Given the description of an element on the screen output the (x, y) to click on. 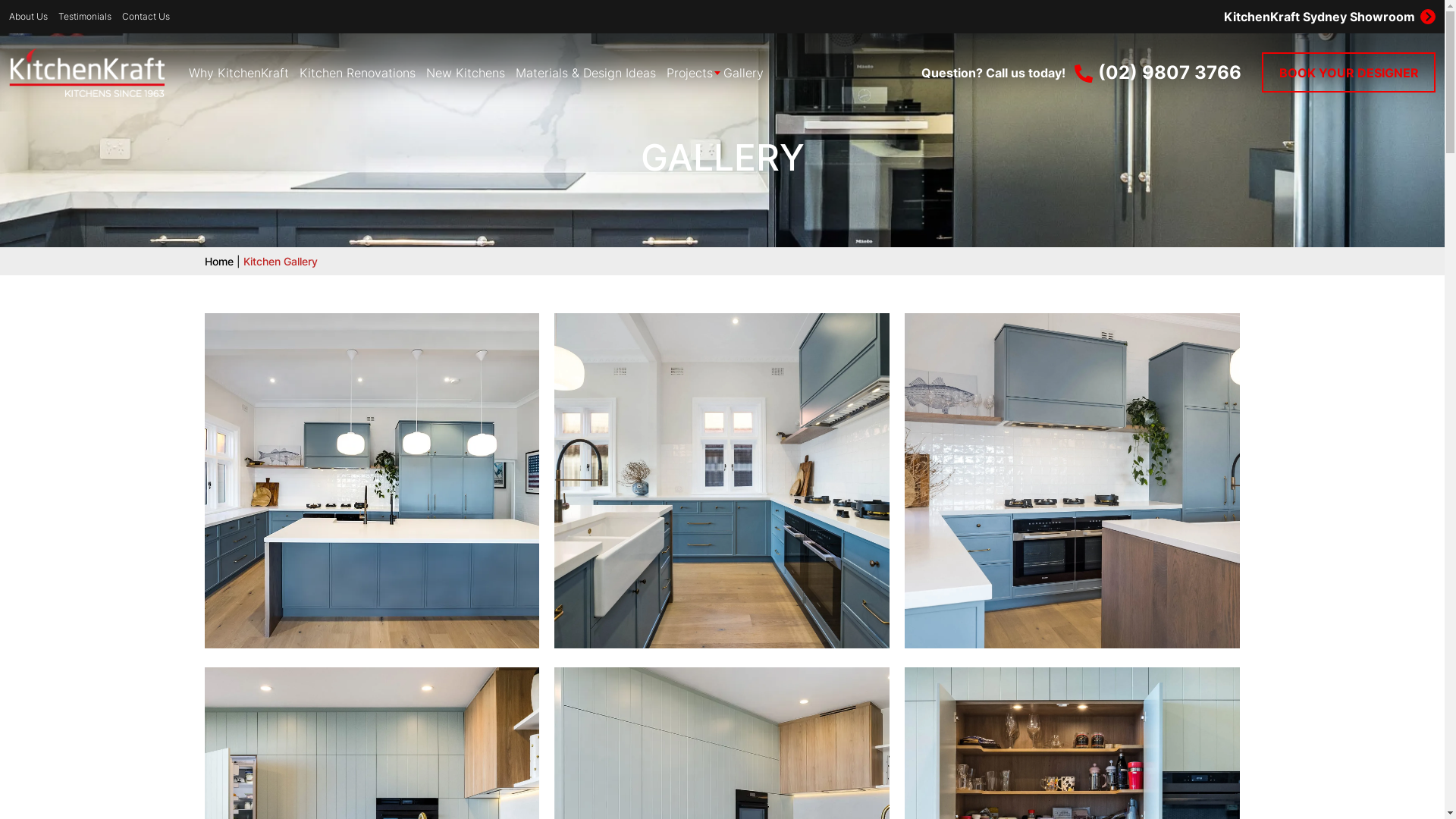
About Us Element type: text (28, 16)
Home Element type: text (218, 260)
Materials & Design Ideas Element type: text (585, 72)
KitchenKraft Sydney Showroom Element type: text (1083, 16)
Gallery Element type: text (743, 72)
Kitchen Renovations Element type: text (357, 72)
Testimonials Element type: text (84, 16)
Projects Element type: text (689, 72)
Contact Us Element type: text (145, 16)
(02) 9807 3766 Element type: text (1157, 72)
BOOK YOUR DESIGNER Element type: text (1348, 72)
Why KitchenKraft Element type: text (238, 72)
New Kitchens Element type: text (465, 72)
